Given the description of an element on the screen output the (x, y) to click on. 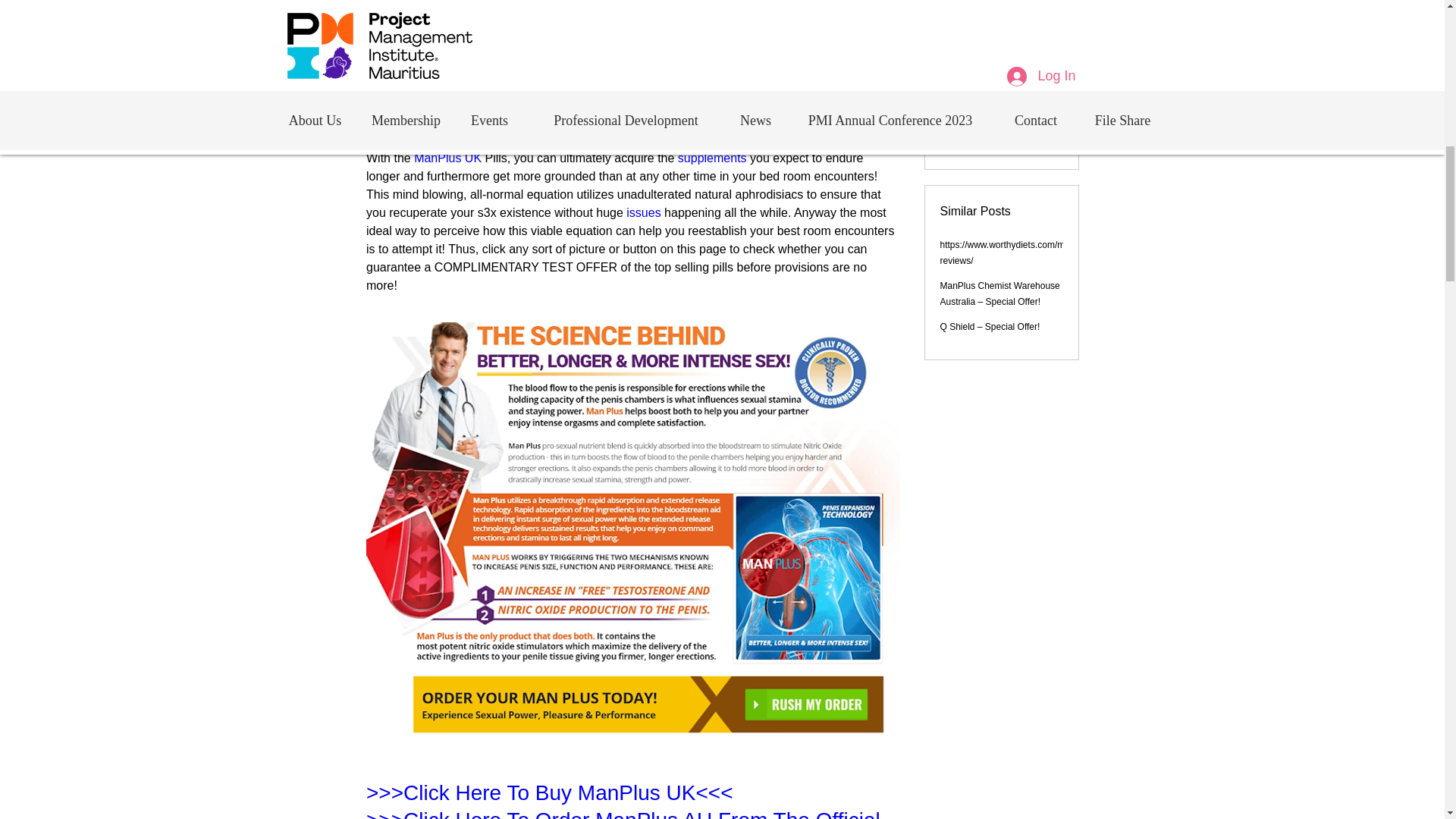
issues  (644, 212)
supplements  (713, 157)
ManPlus UK (447, 157)
